Given the description of an element on the screen output the (x, y) to click on. 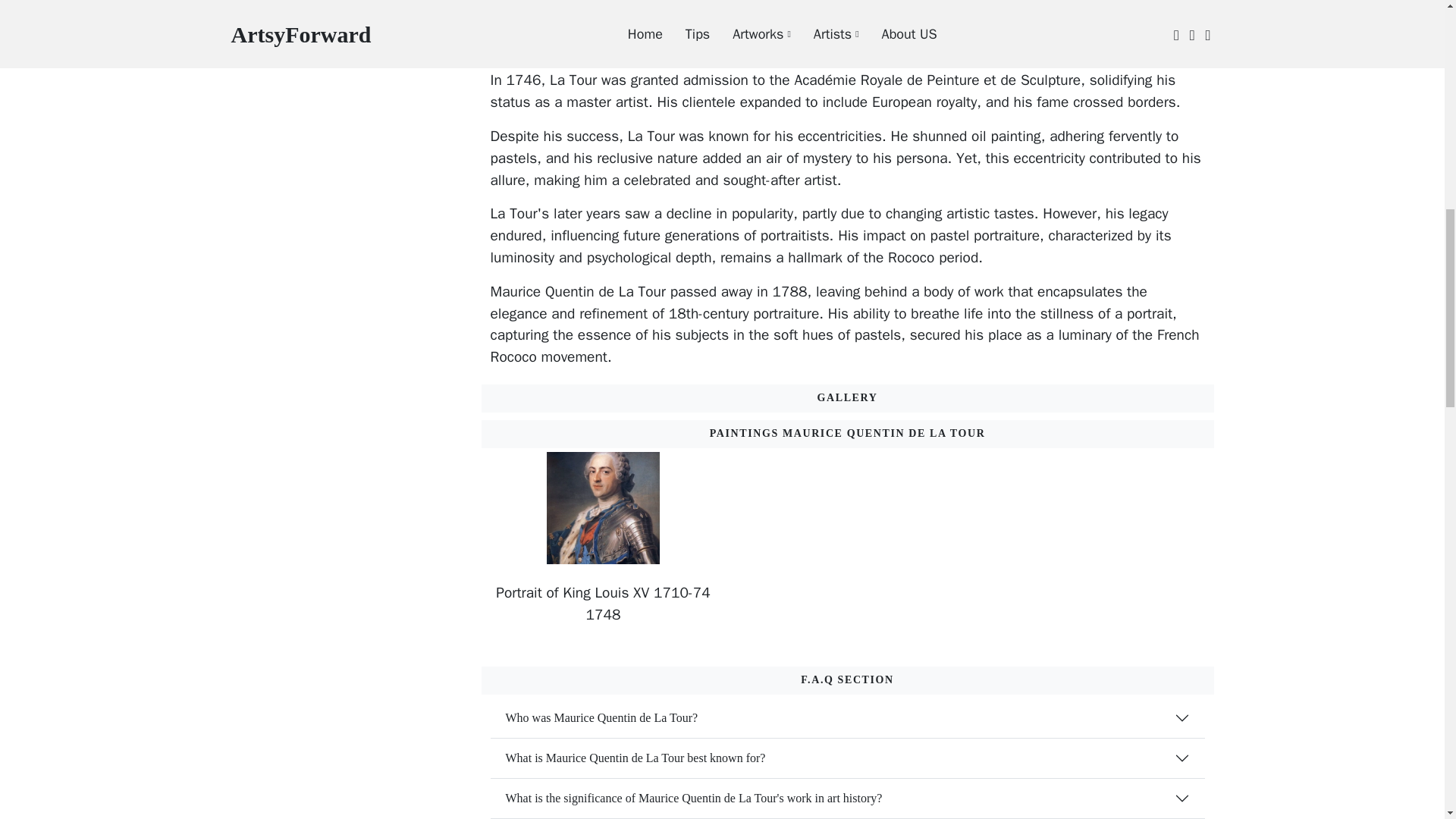
Who was Maurice Quentin de La Tour? (846, 717)
Portrait of King Louis XV 1710-74 1748 (602, 604)
What is Maurice Quentin de La Tour best known for? (846, 758)
